Given the description of an element on the screen output the (x, y) to click on. 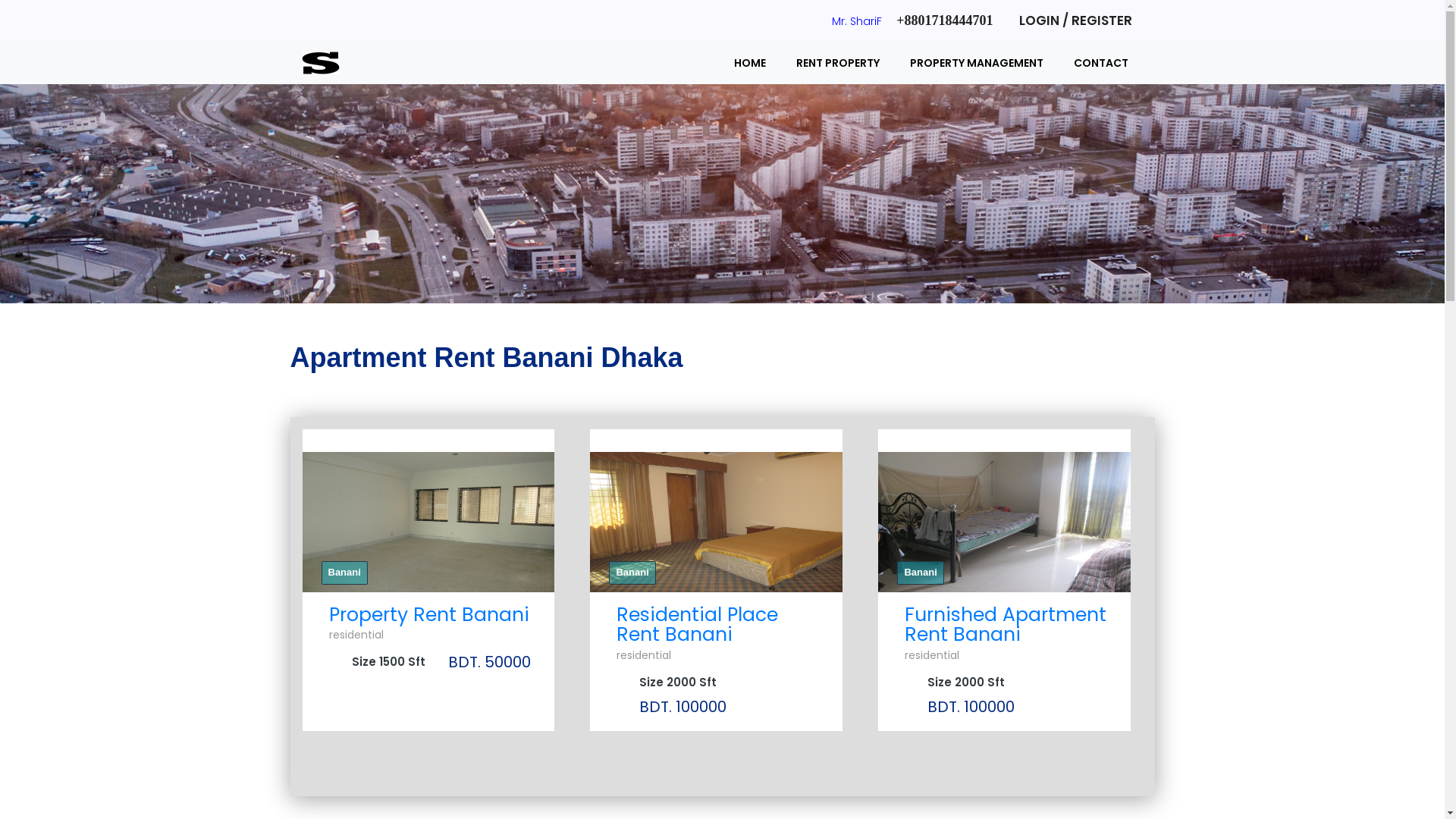
LOGIN / REGISTER Element type: text (1075, 20)
+8801718444701 Element type: text (944, 20)
HOME Element type: text (749, 62)
Property Rent Banani Element type: text (429, 614)
CONTACT Element type: text (1100, 62)
PROPERTY MANAGEMENT Element type: text (976, 62)
Furnished Apartment Rent Banani Element type: text (1005, 624)
Residential Place Rent Banani Element type: text (697, 624)
RENT PROPERTY Element type: text (837, 62)
